Given the description of an element on the screen output the (x, y) to click on. 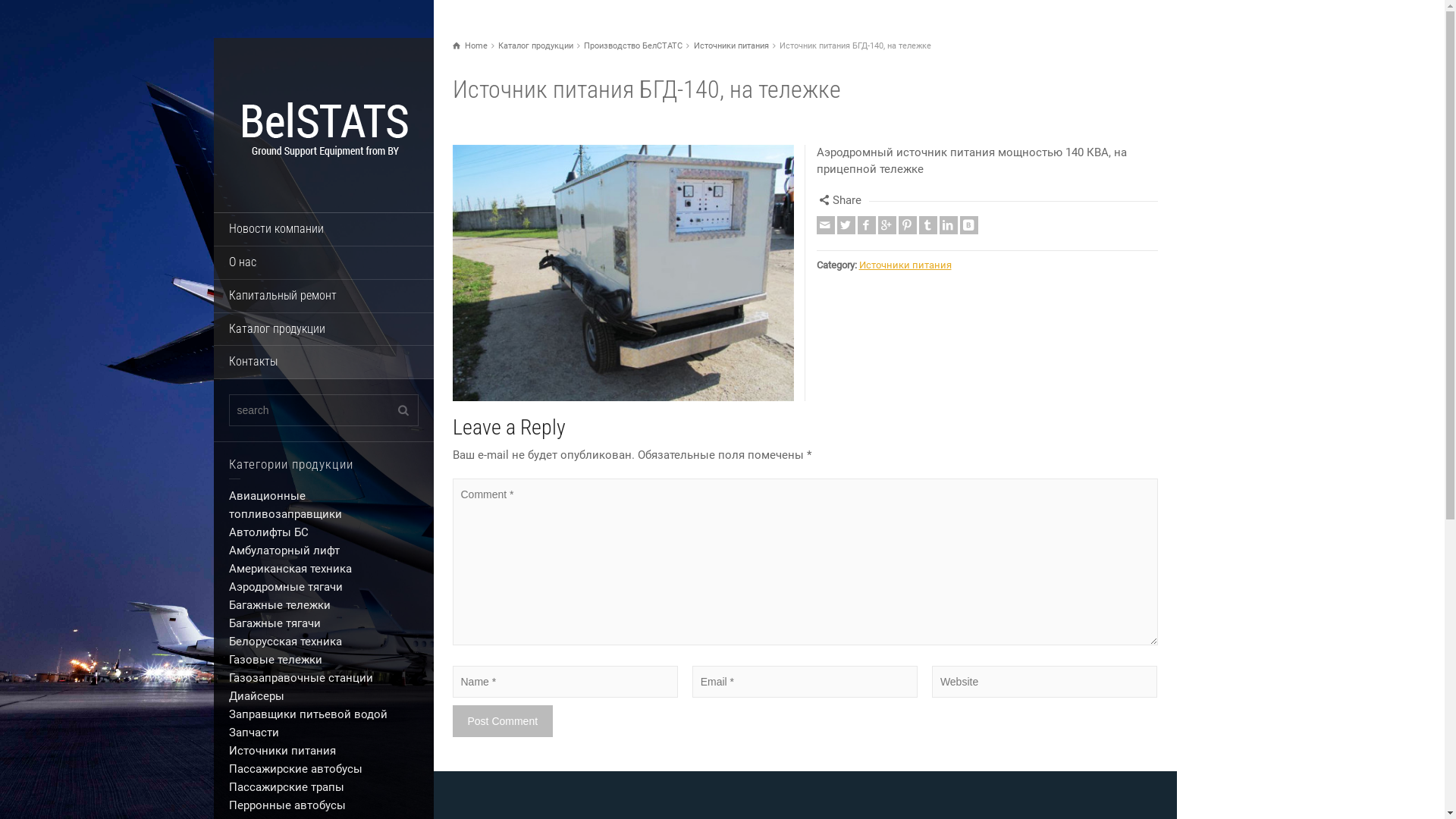
Email Element type: hover (824, 225)
Enlarge Image Element type: hover (280, 272)
Enlarge Image Element type: hover (622, 272)
Twitter Element type: hover (846, 225)
Vkontakte Element type: hover (969, 225)
Home Element type: text (468, 45)
Post Comment Element type: text (501, 721)
Tumblr Element type: hover (928, 225)
Pinterest Element type: hover (906, 225)
Linkedin Element type: hover (947, 225)
Google + Element type: hover (887, 225)
Facebook Element type: hover (865, 225)
